Given the description of an element on the screen output the (x, y) to click on. 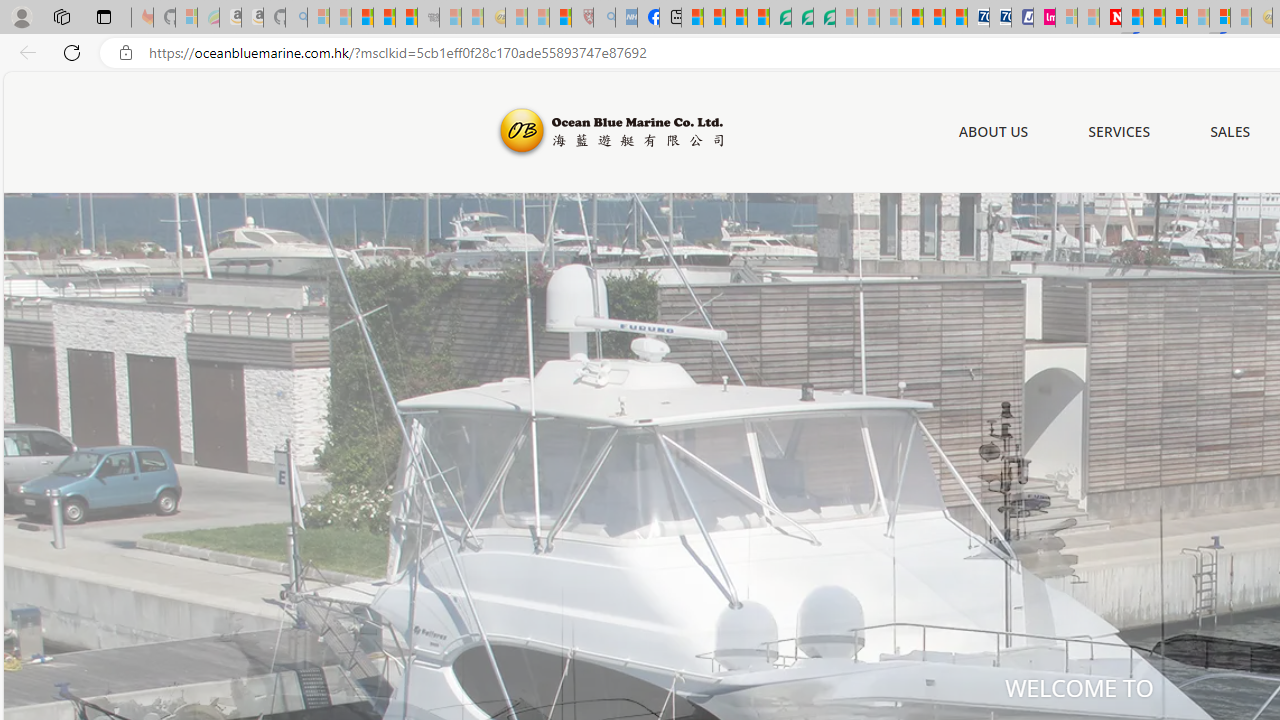
SERVICES (1119, 131)
Cheap Hotels - Save70.com (1000, 17)
New Report Confirms 2023 Was Record Hot | Watch (406, 17)
